Given the description of an element on the screen output the (x, y) to click on. 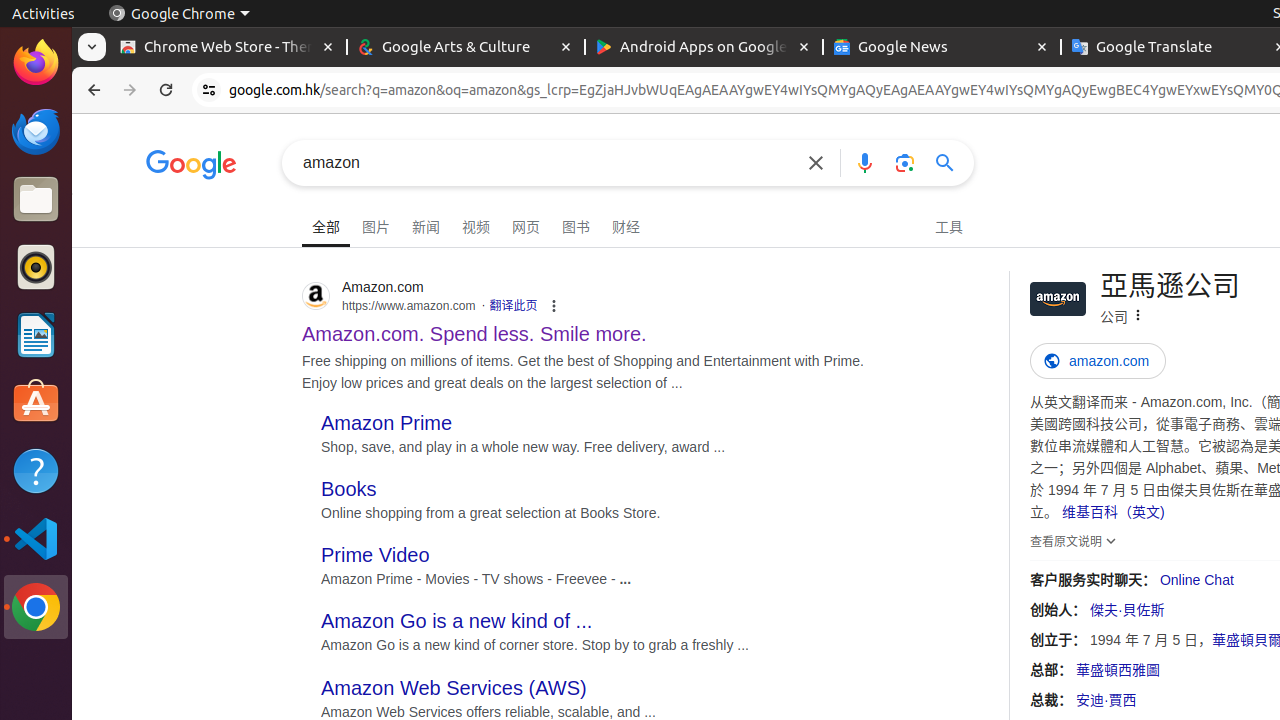
Rhythmbox Element type: push-button (36, 267)
Back Element type: push-button (91, 90)
视频 Element type: link (476, 224)
按语音搜索 Element type: push-button (865, 162)
更多选项 Element type: push-button (1138, 315)
